Given the description of an element on the screen output the (x, y) to click on. 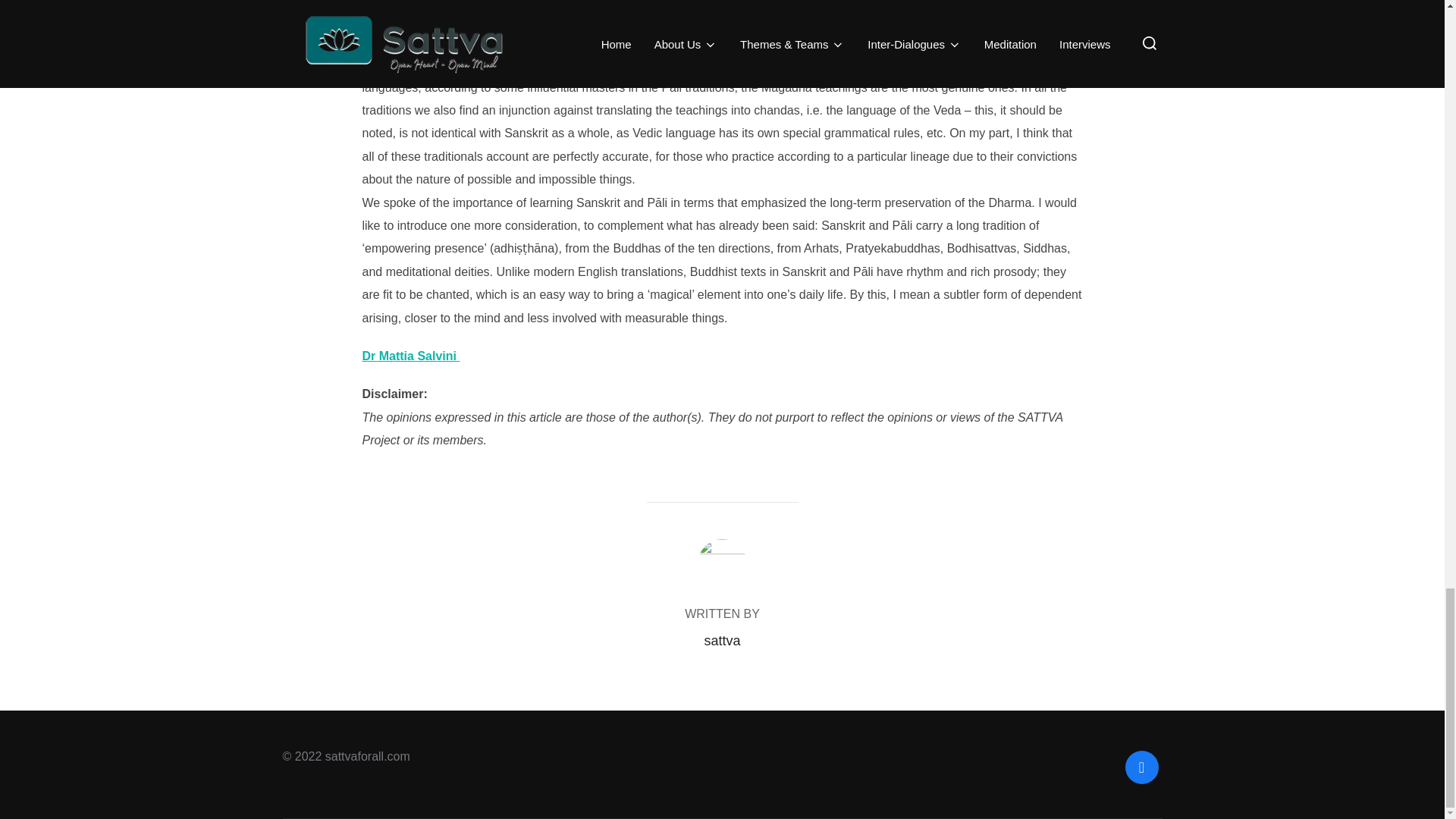
Posts by sattva (721, 640)
